Given the description of an element on the screen output the (x, y) to click on. 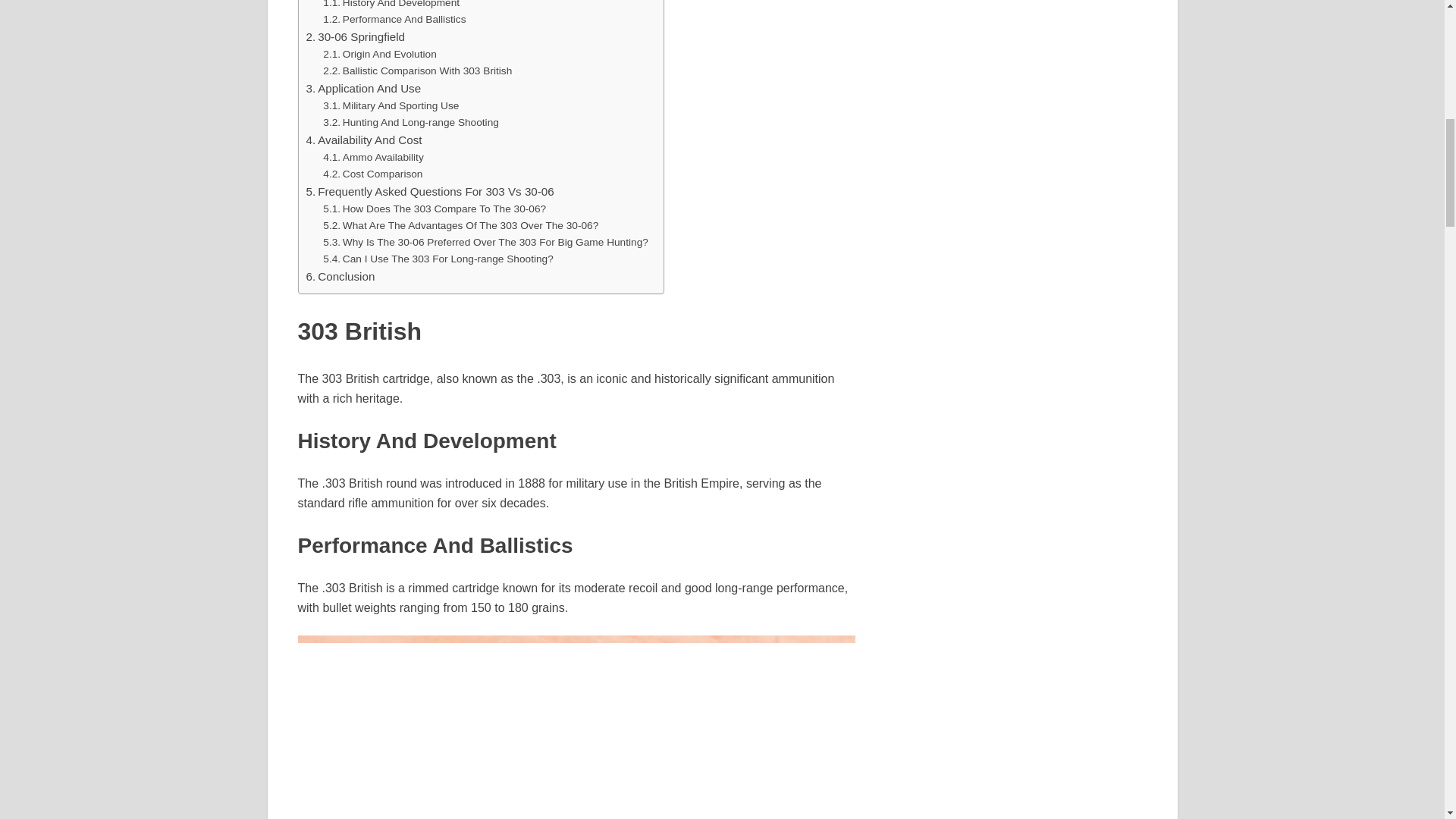
Origin And Evolution (379, 54)
Performance And Ballistics (394, 19)
Ballistic Comparison With 303 British (417, 71)
Application And Use (363, 88)
Military And Sporting Use (390, 105)
30-06 Springfield (355, 36)
Military And Sporting Use (390, 105)
Cost Comparison (372, 174)
Hunting And Long-range Shooting (411, 122)
Conclusion (340, 276)
Frequently Asked Questions For 303 Vs 30-06 (429, 191)
Ballistic Comparison With 303 British (417, 71)
How Does The 303 Compare To The 30-06? (434, 208)
30-06 Springfield (355, 36)
